Given the description of an element on the screen output the (x, y) to click on. 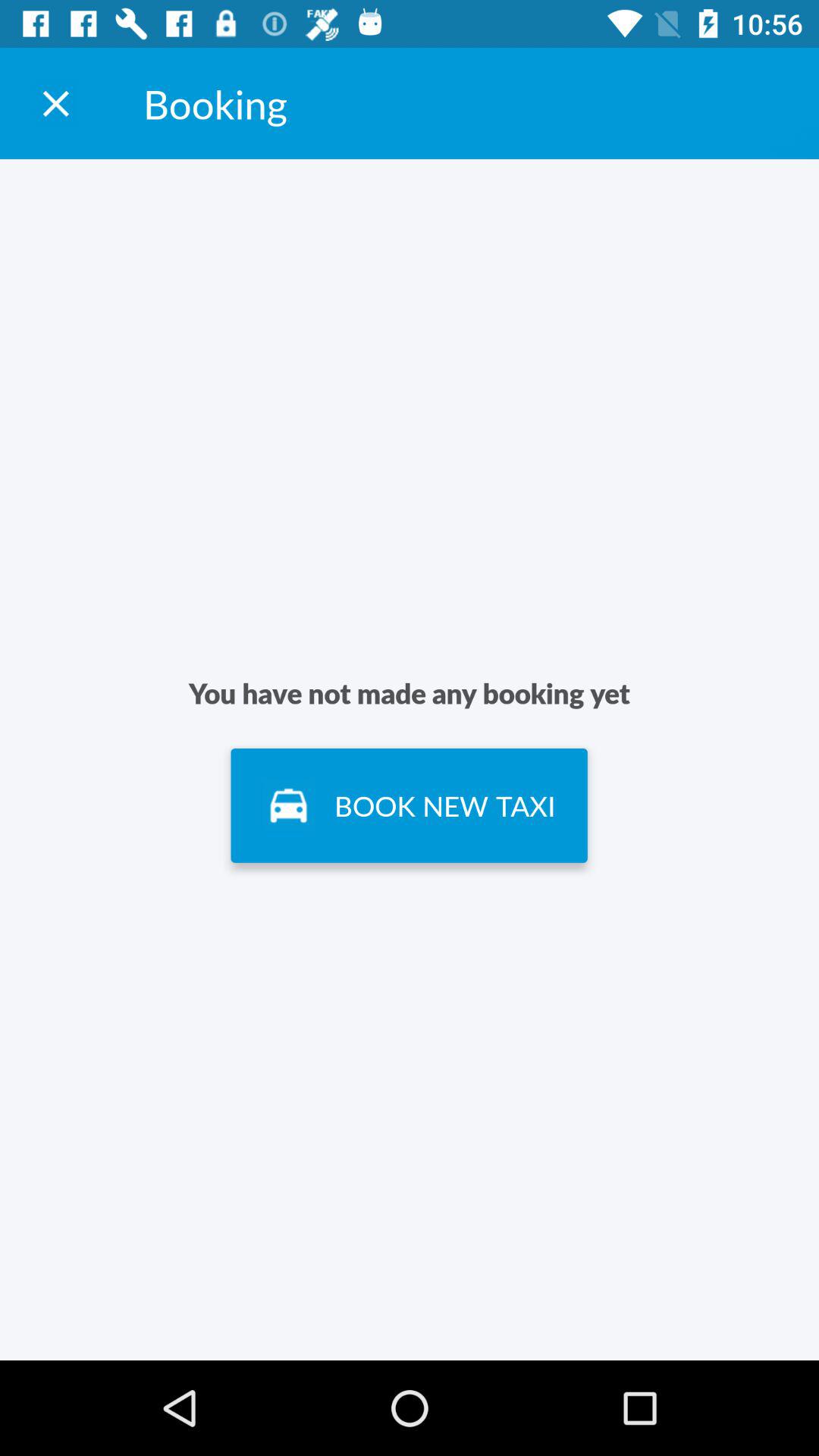
close booking tab (55, 103)
